Given the description of an element on the screen output the (x, y) to click on. 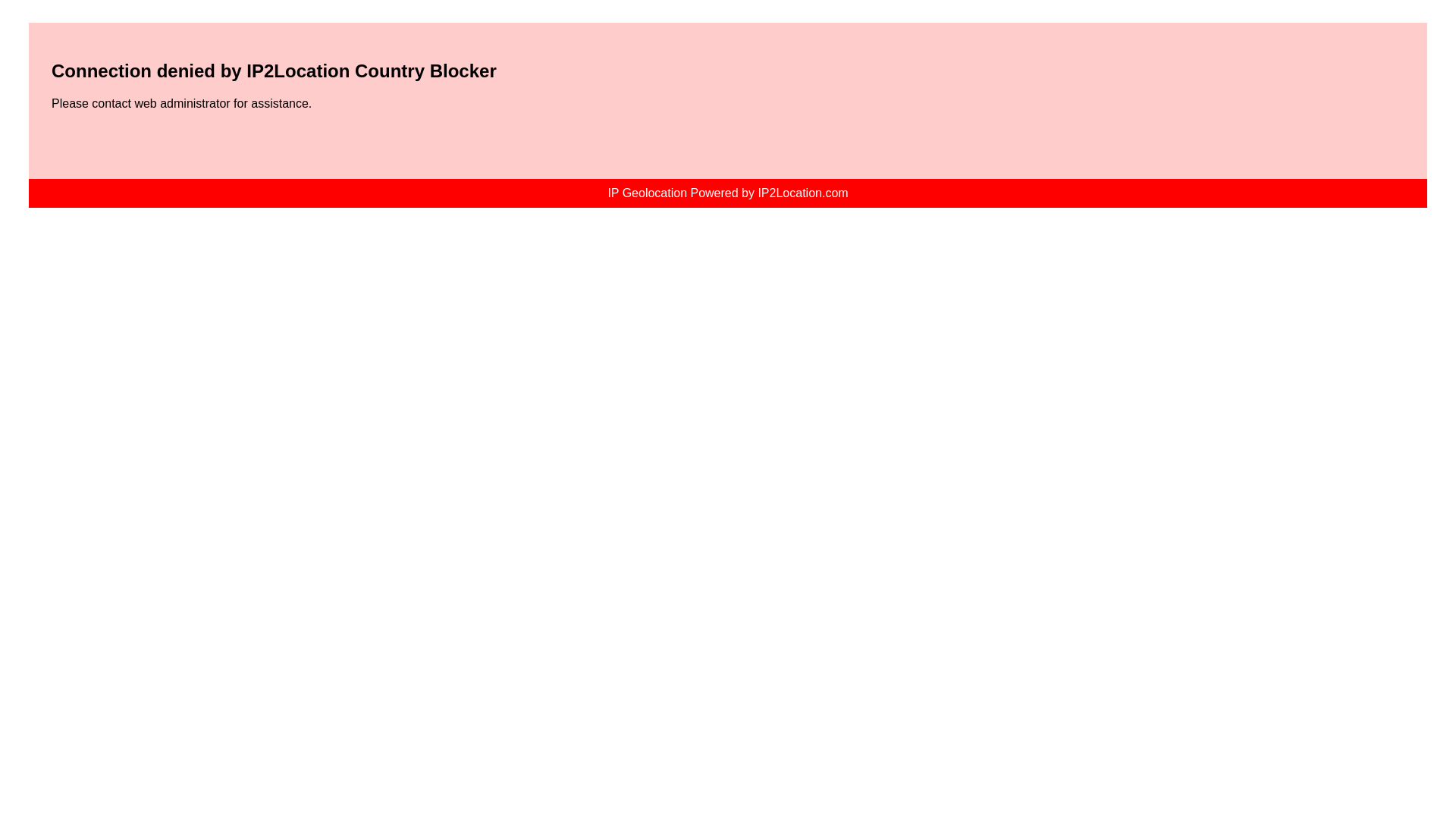
IP Geolocation Powered by IP2Location.com (727, 192)
